Given the description of an element on the screen output the (x, y) to click on. 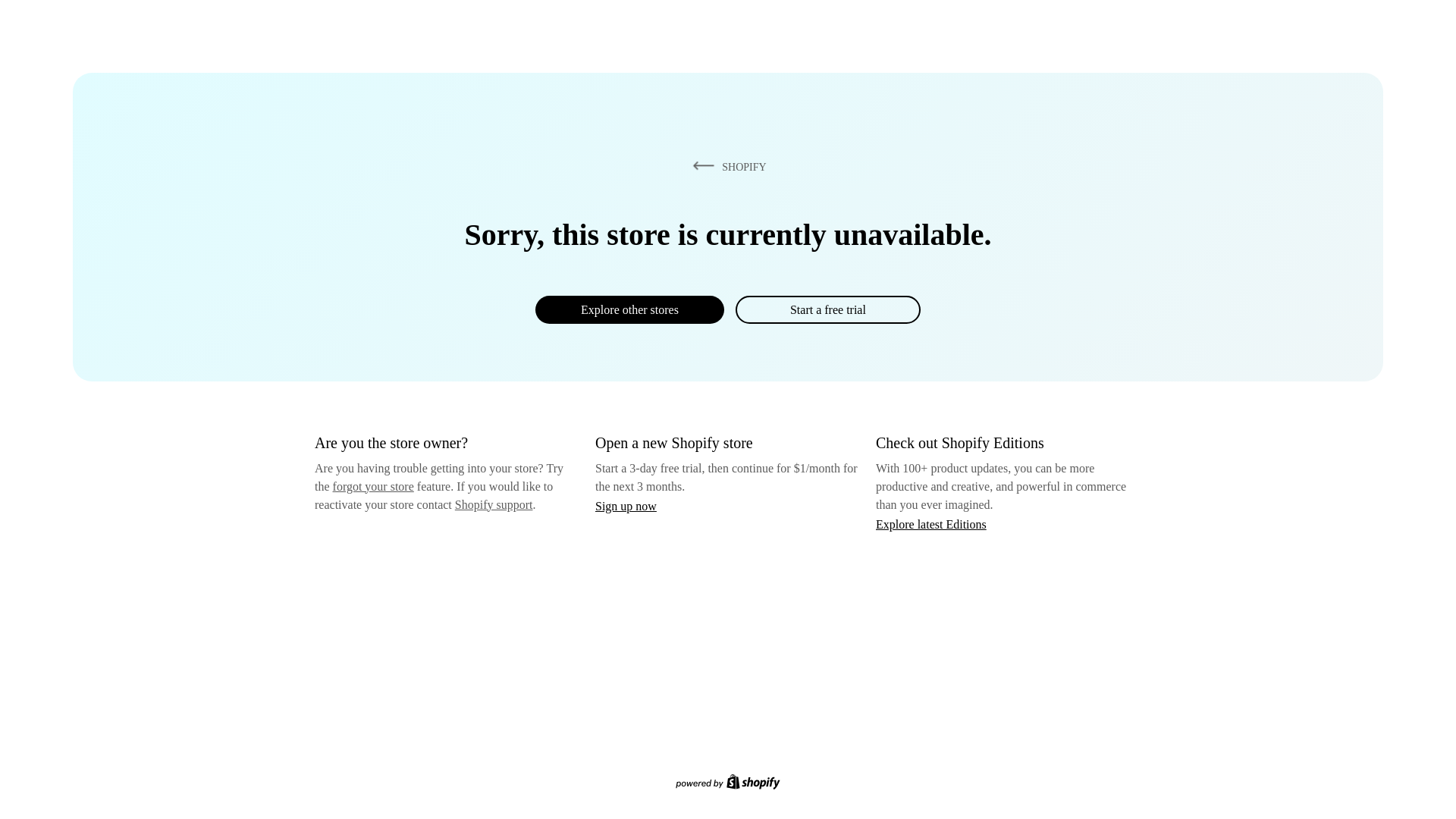
forgot your store (373, 486)
Explore other stores (629, 309)
Sign up now (625, 505)
Explore latest Editions (931, 523)
Start a free trial (827, 309)
SHOPIFY (726, 166)
Shopify support (493, 504)
